Given the description of an element on the screen output the (x, y) to click on. 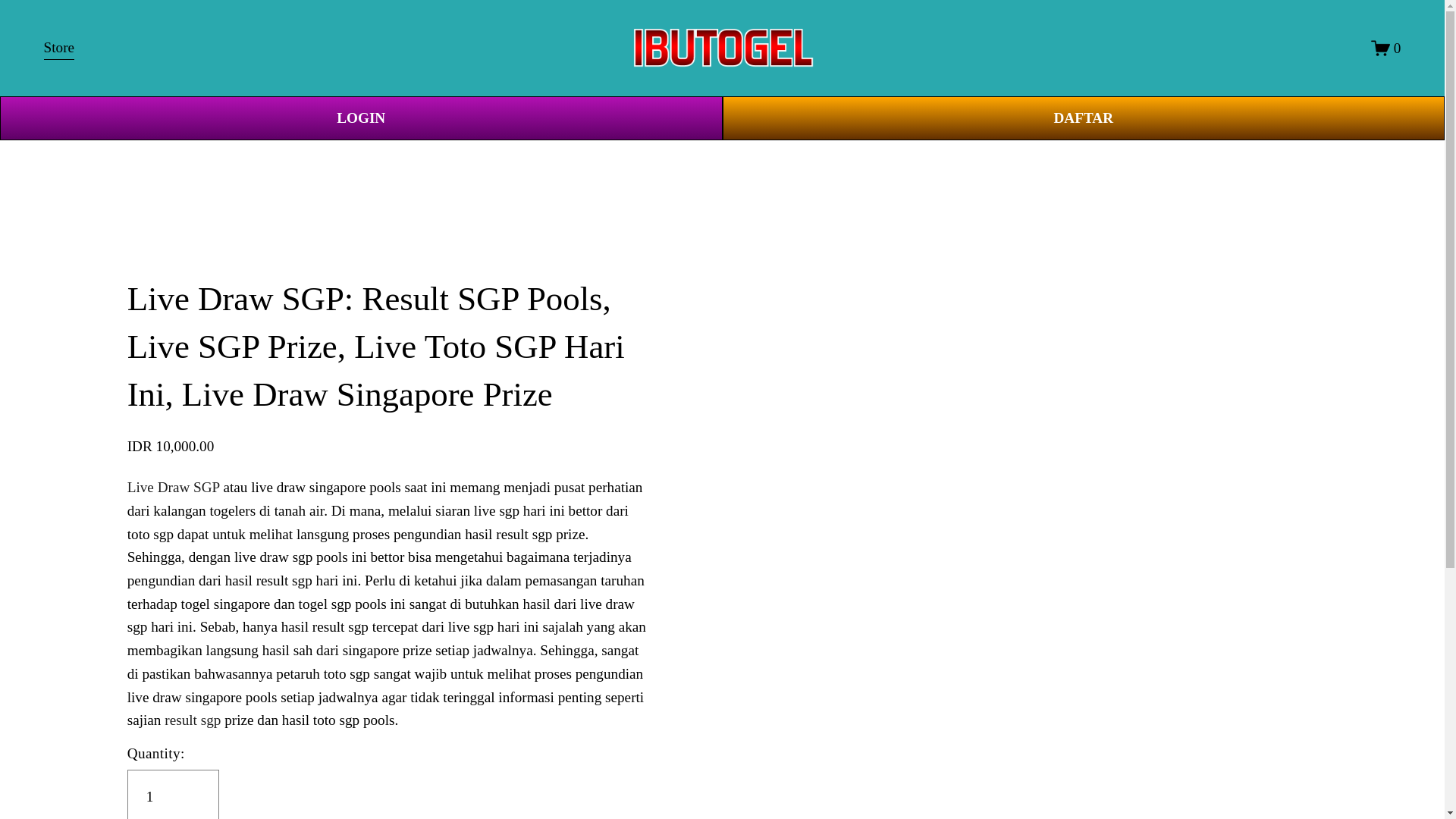
Live Draw SGP (173, 487)
Store (59, 48)
LOGIN (361, 118)
result sgp (192, 719)
0 (1385, 47)
1 (173, 794)
